Given the description of an element on the screen output the (x, y) to click on. 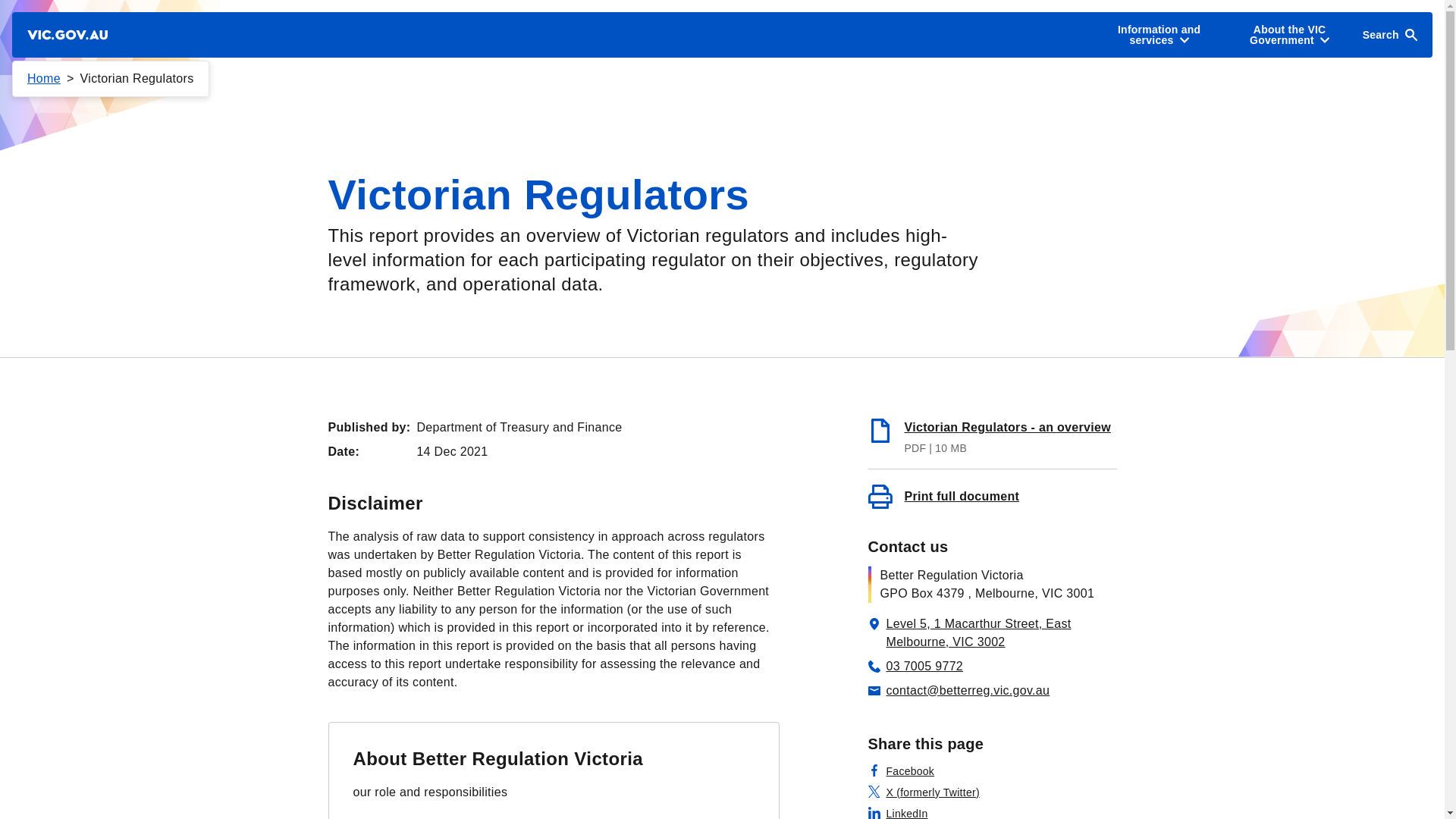
LinkedIn (897, 812)
Print full document (991, 495)
Home (44, 78)
Level 5, 1 Macarthur Street, East Melbourne, VIC 3002 (991, 435)
03 7005 9772 (991, 632)
About Better Regulation Victoria (914, 665)
Facebook (498, 757)
